Given the description of an element on the screen output the (x, y) to click on. 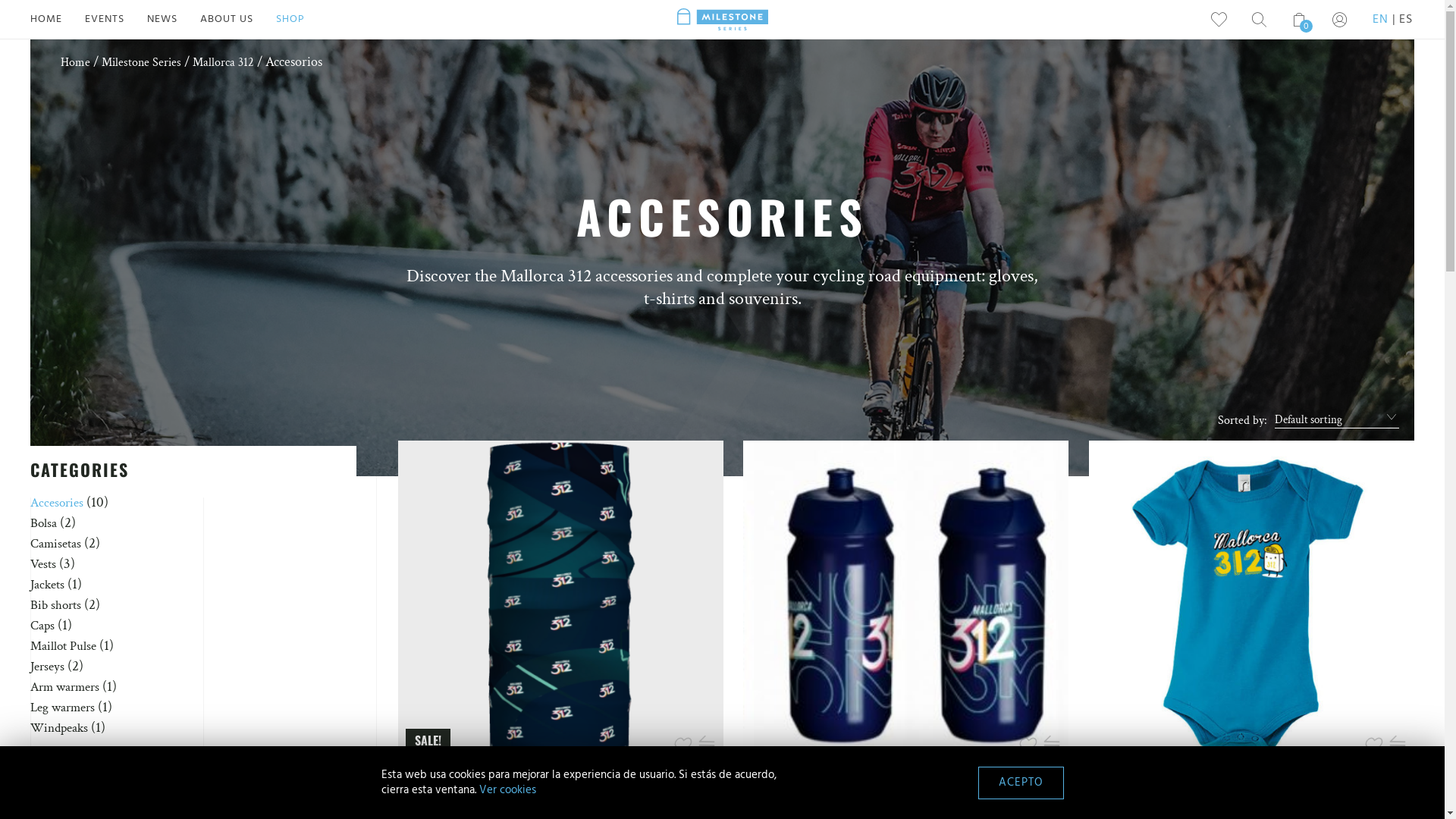
EVENTS Element type: text (115, 19)
SHOP Element type: text (301, 19)
Camisetas Element type: text (55, 543)
Jerseys Element type: text (47, 666)
Maillot Pulse Element type: text (63, 645)
Home Element type: text (75, 62)
Arm warmers Element type: text (64, 686)
Bolsa Element type: text (43, 522)
Vests Element type: text (43, 563)
ABOUT US Element type: text (238, 19)
NEWS Element type: text (173, 19)
Accesories Element type: text (56, 502)
ES Element type: text (1405, 19)
Mallorca 312 Element type: text (223, 62)
Caps Element type: text (42, 625)
Buscar Element type: text (1063, 408)
HOME Element type: text (57, 19)
Leg warmers Element type: text (62, 707)
0 Element type: text (1299, 19)
My account Element type: hover (1339, 19)
Bib shorts Element type: text (55, 604)
Milestone Series Element type: text (141, 62)
EN Element type: text (1384, 19)
Ver cookies Element type: text (507, 790)
Jackets Element type: text (47, 584)
ACEPTO Element type: text (1020, 781)
Windpeaks Element type: text (58, 727)
